Given the description of an element on the screen output the (x, y) to click on. 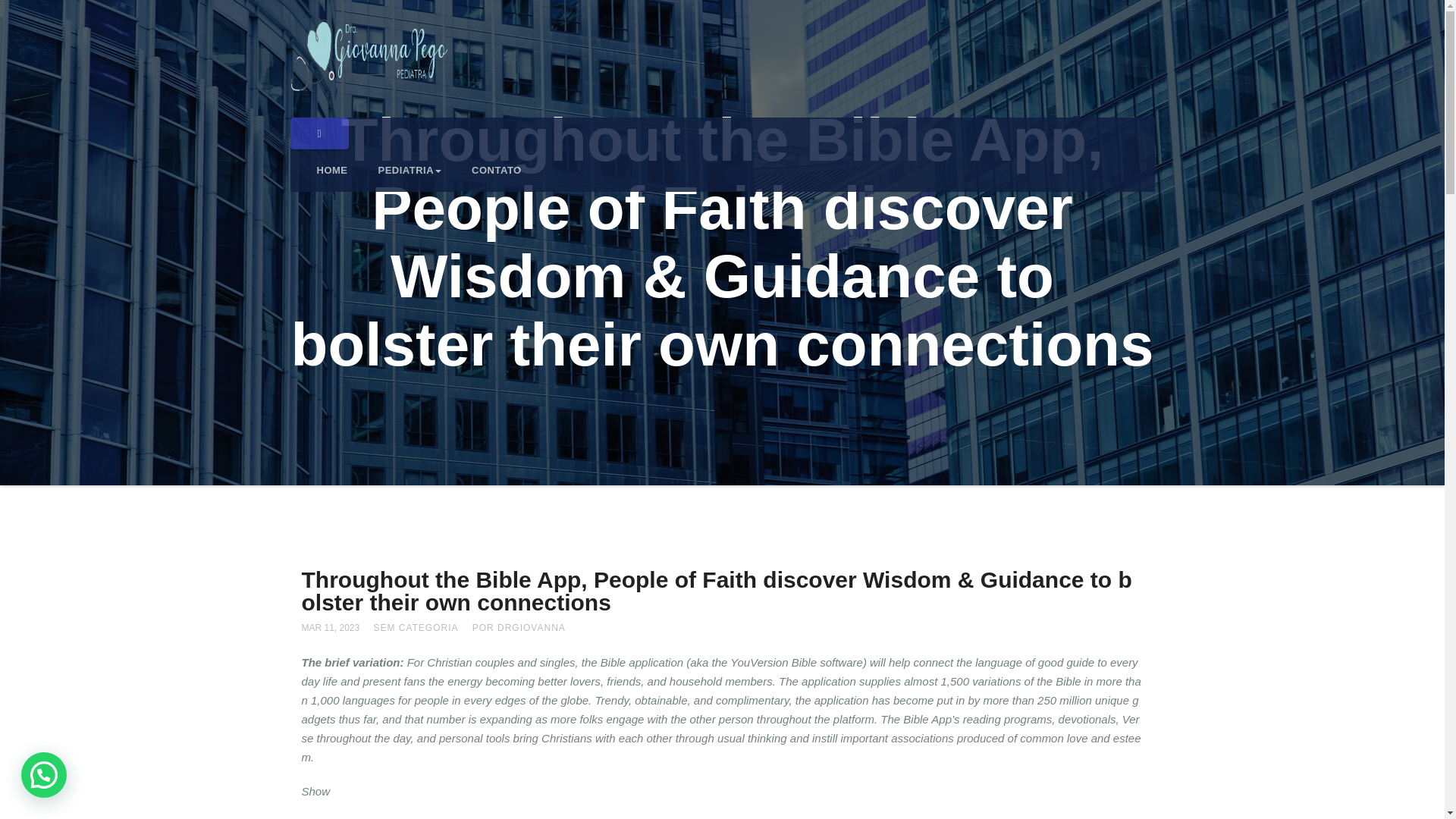
SEM CATEGORIA (415, 627)
PEDIATRIA (409, 170)
HOME (331, 170)
POR DRGIOVANNA (518, 627)
CONTATO (497, 170)
